Given the description of an element on the screen output the (x, y) to click on. 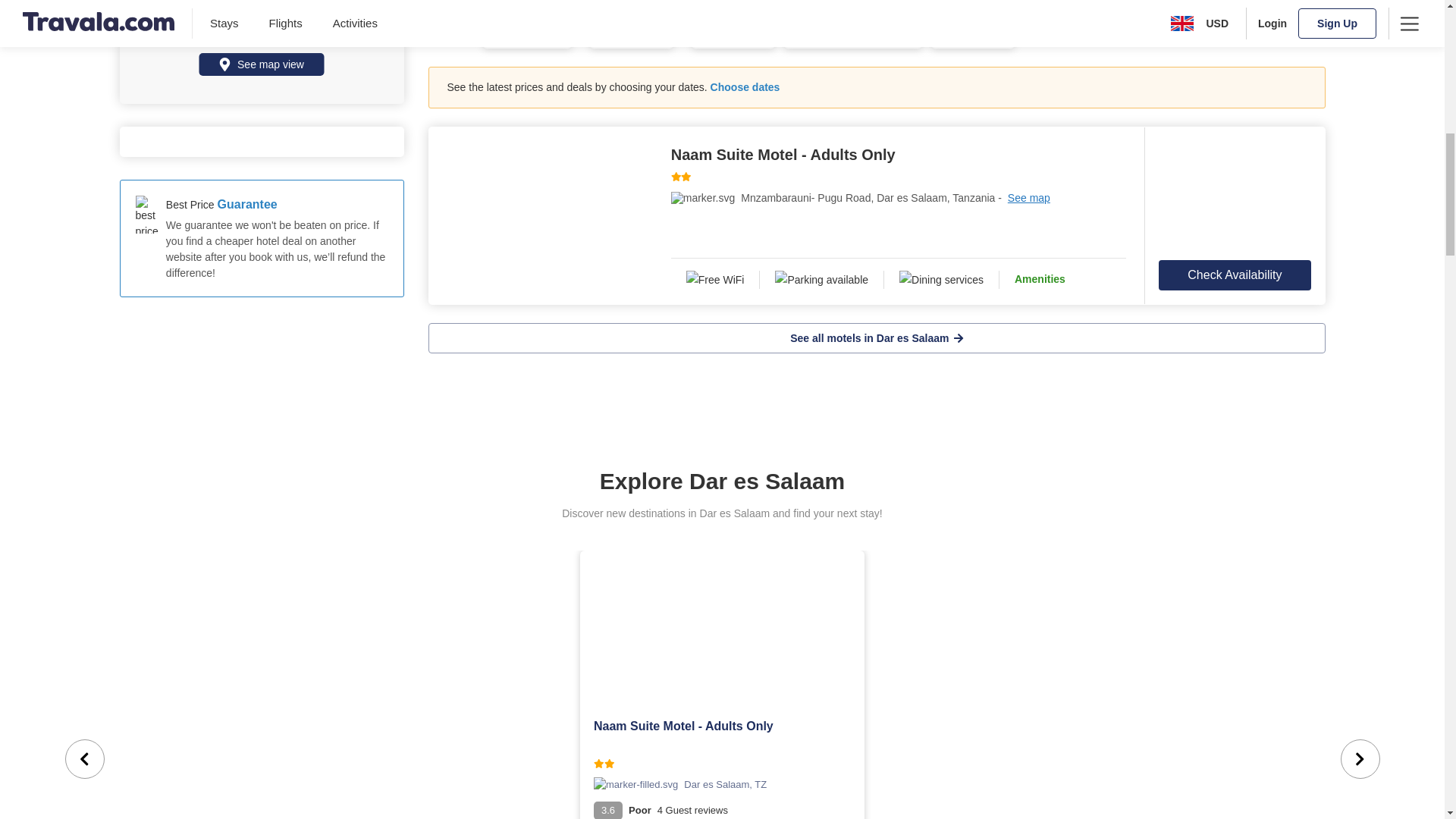
Dining services (940, 280)
Free WiFi (715, 280)
Parking available (821, 280)
